Given the description of an element on the screen output the (x, y) to click on. 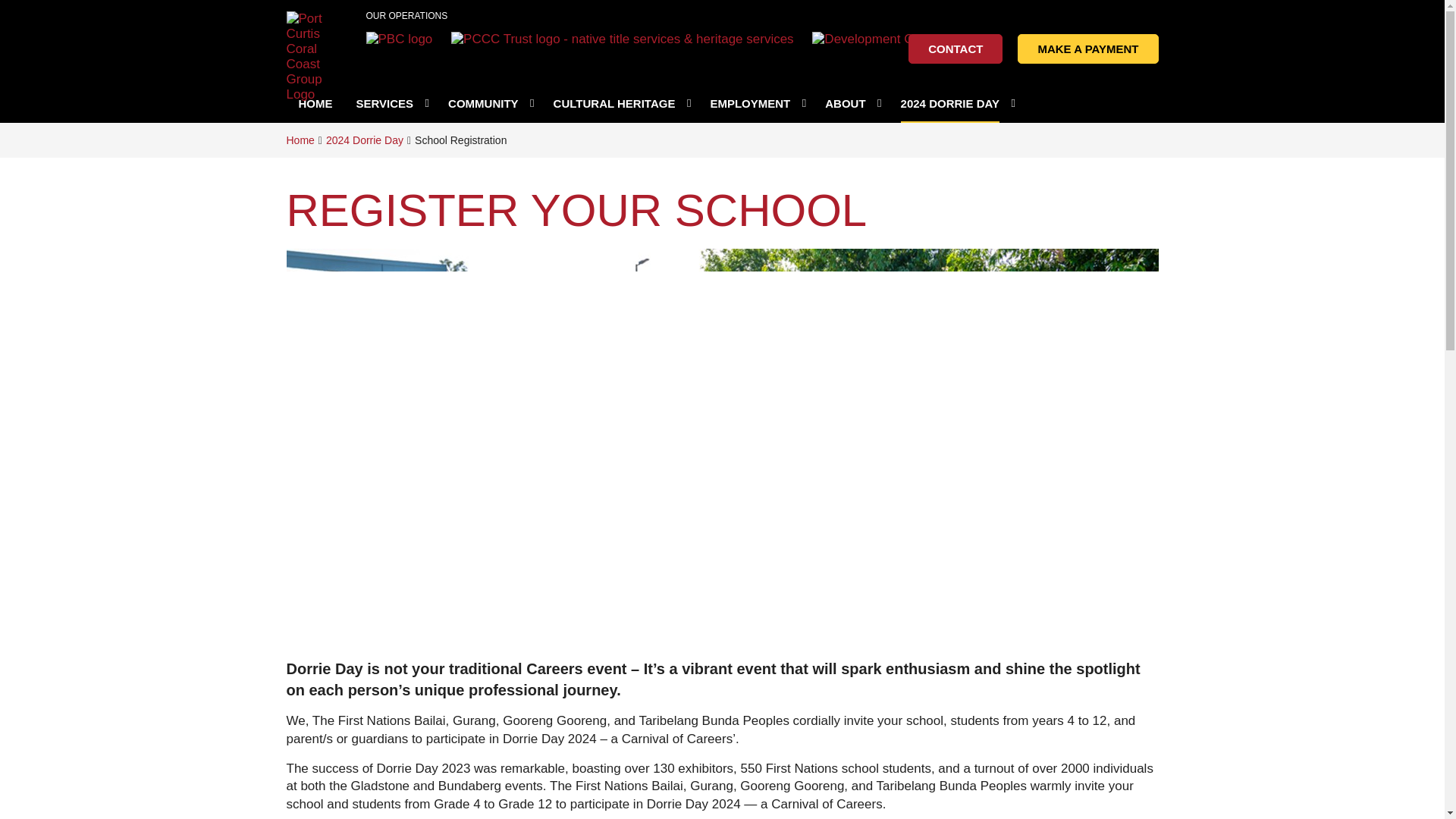
SERVICES (389, 103)
CULTURAL HERITAGE (619, 103)
ABOUT (850, 103)
HOME (315, 103)
EMPLOYMENT (755, 103)
MAKE A PAYMENT (1087, 48)
CONTACT (955, 48)
COMMUNITY (488, 103)
Home (300, 140)
2024 DORRIE DAY (956, 103)
